Given the description of an element on the screen output the (x, y) to click on. 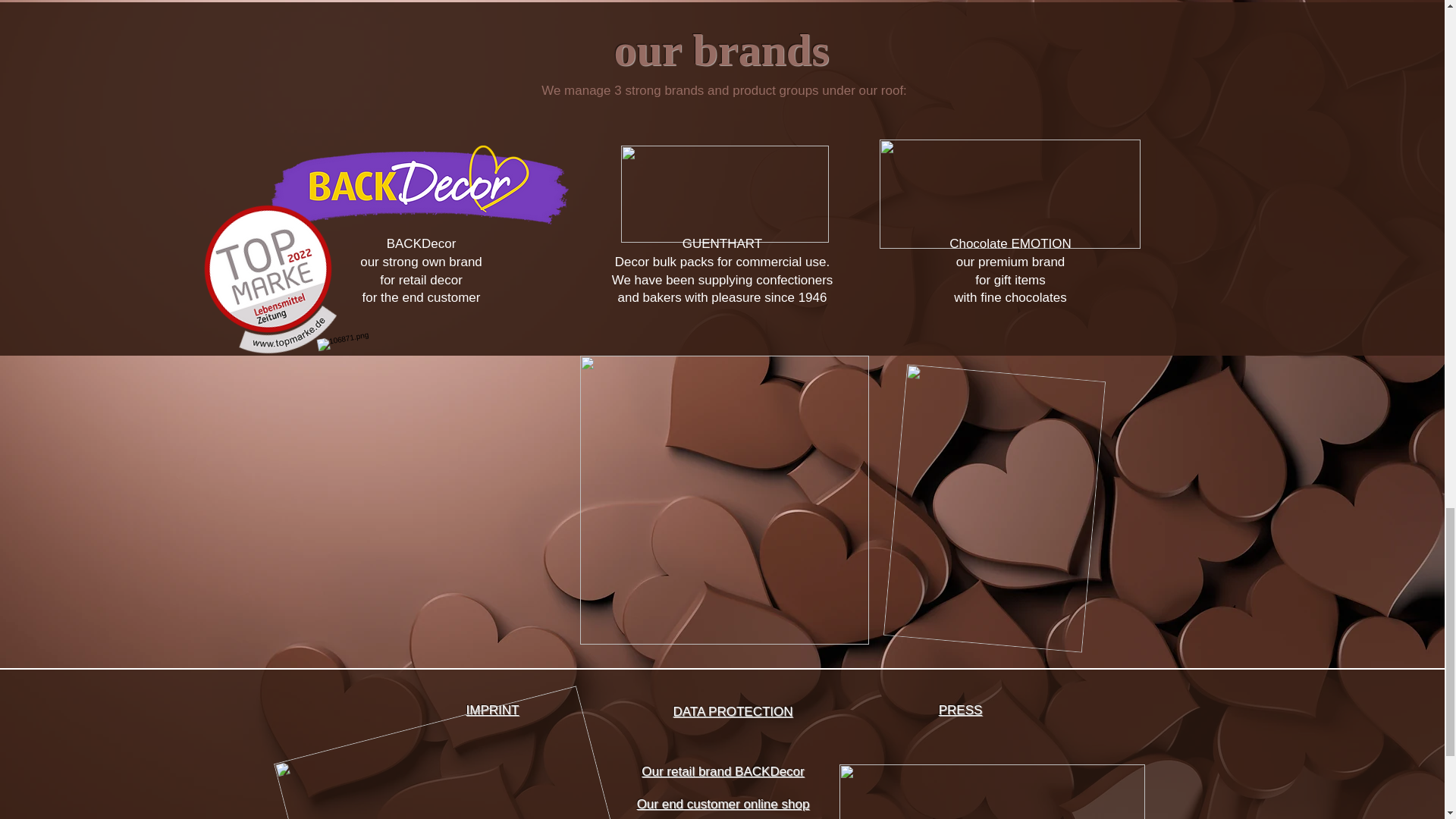
yellowcake.png (723, 499)
DATA PROTECTION (732, 711)
IMPRINT (492, 709)
Our end customer online shop (723, 803)
Our retail brand BACKDecor (722, 771)
